Given the description of an element on the screen output the (x, y) to click on. 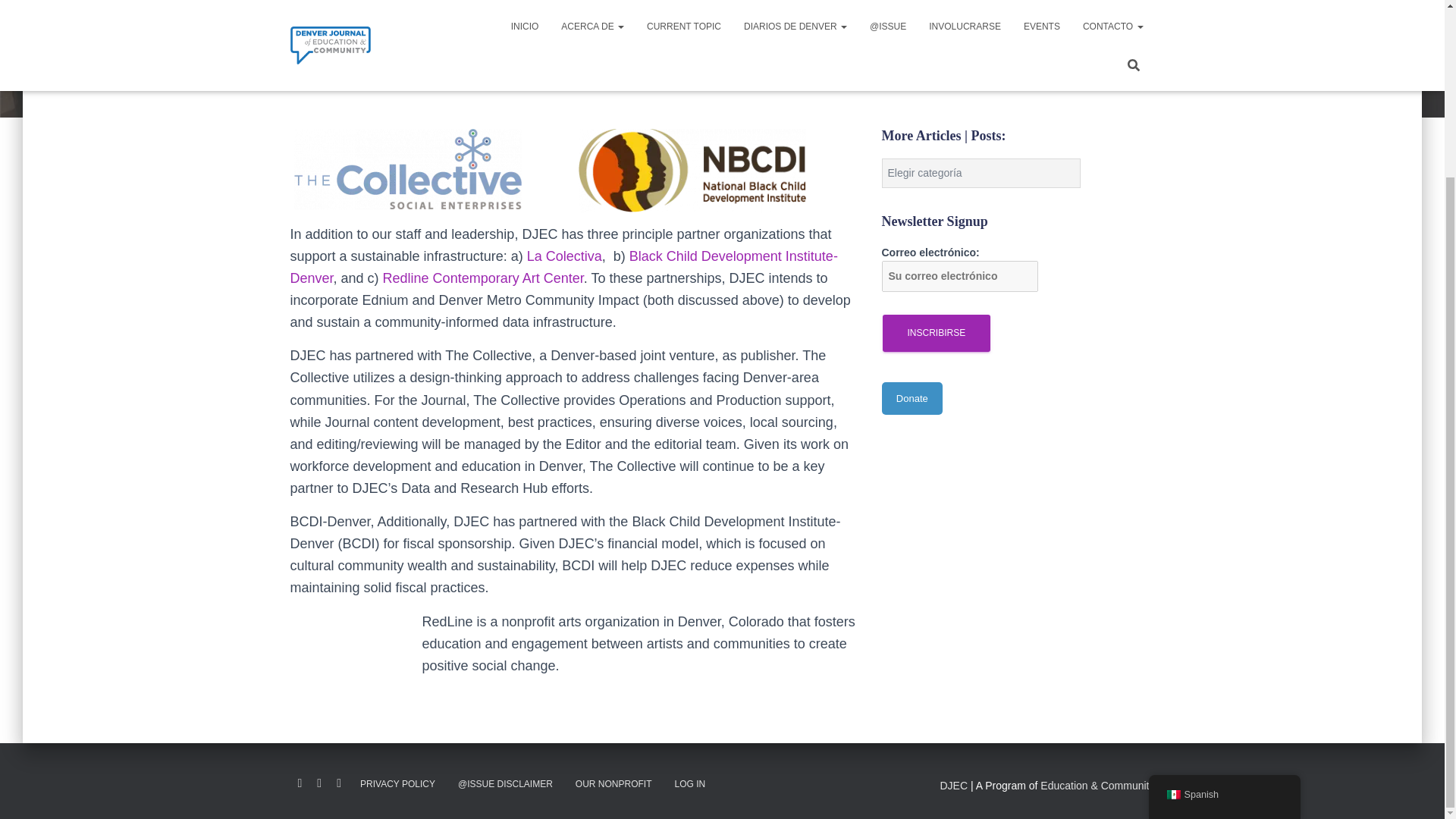
Redline Contemporary Art Center (482, 278)
Inscribirse (936, 333)
PRIVACY POLICY (397, 784)
Black Child Development Institute-Denver (563, 266)
OUR NONPROFIT (613, 784)
La Colectiva (564, 255)
DJEC (954, 785)
Spanish (1224, 579)
Inscribirse (936, 333)
LOG IN (690, 784)
Donate (911, 398)
